Given the description of an element on the screen output the (x, y) to click on. 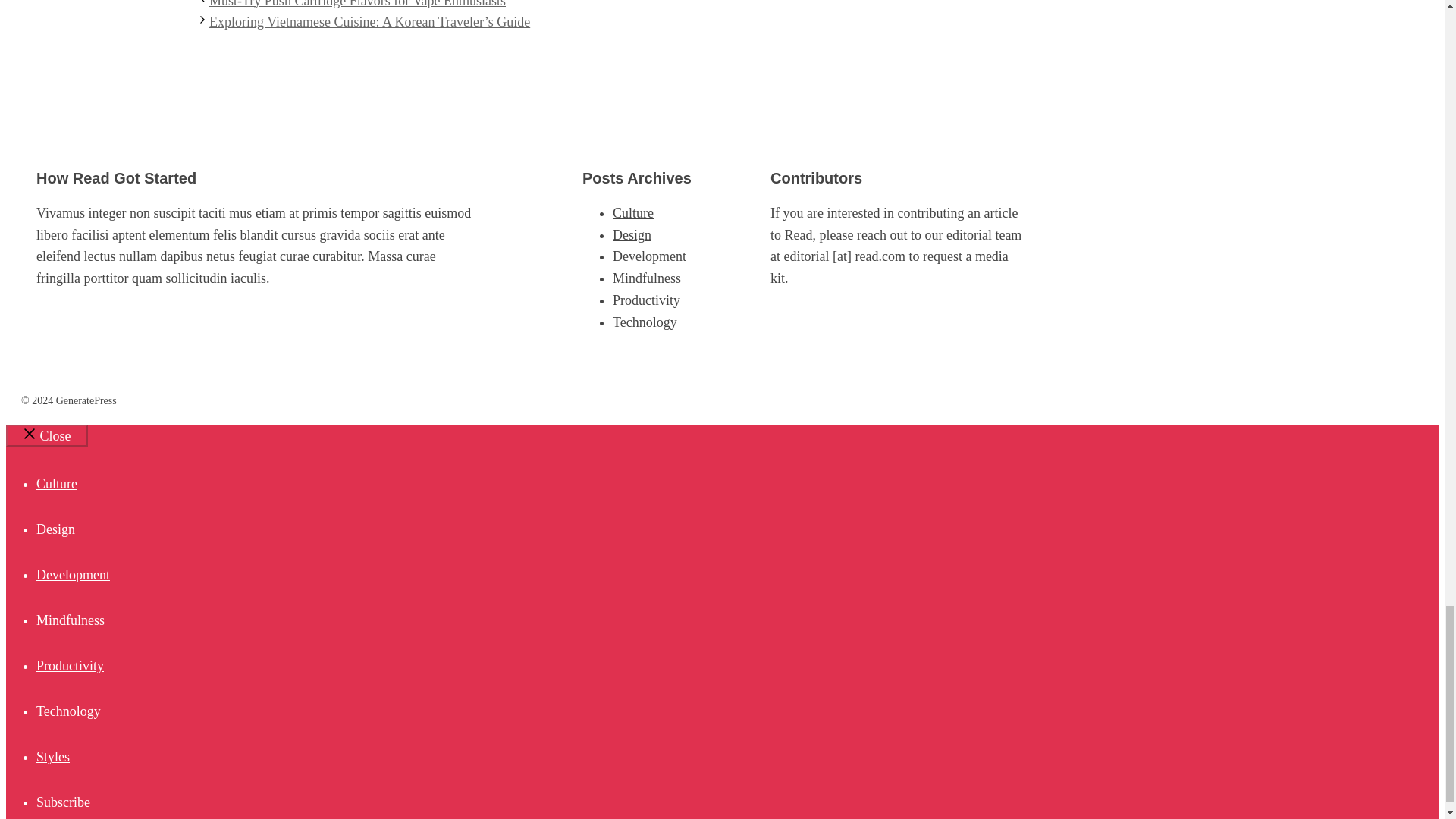
Technology (644, 322)
Development (648, 255)
Design (631, 234)
Must-Try Push Cartridge Flavors for Vape Enthusiasts (357, 4)
Development (73, 574)
Close (46, 435)
Design (55, 529)
Mindfulness (646, 278)
Culture (632, 212)
Culture (56, 483)
